Given the description of an element on the screen output the (x, y) to click on. 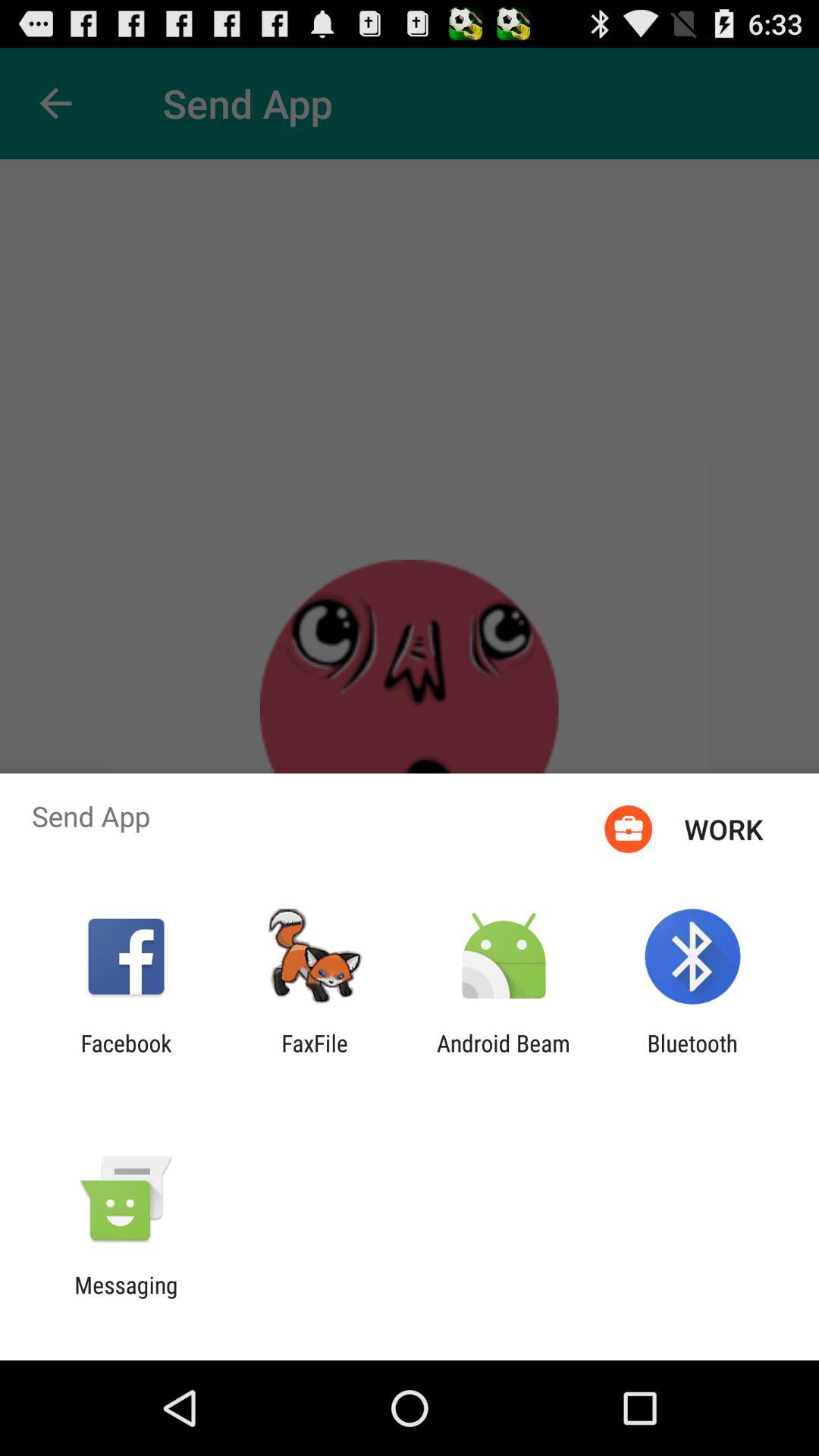
press the item next to the android beam icon (692, 1056)
